Given the description of an element on the screen output the (x, y) to click on. 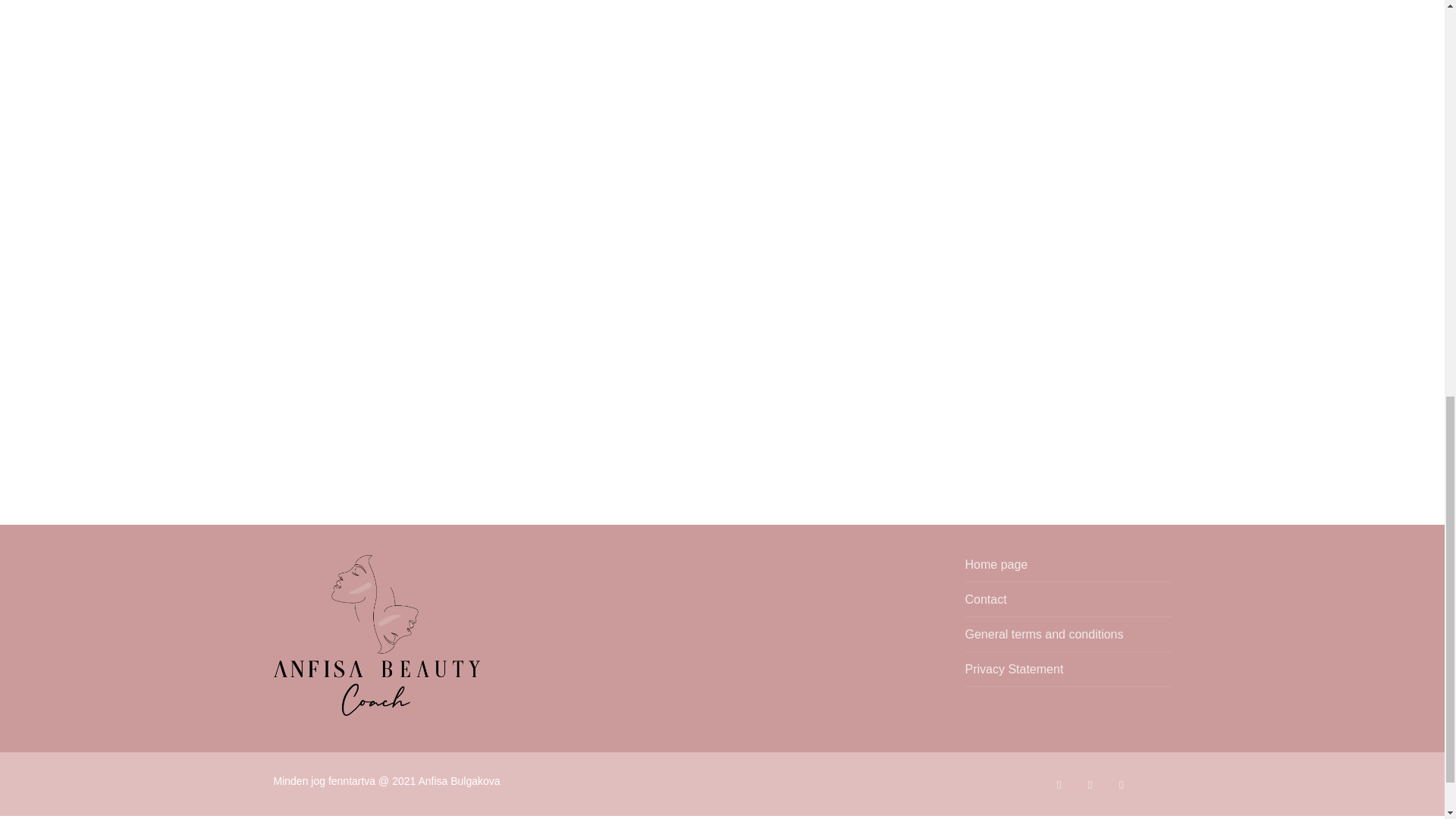
Instagram (1120, 784)
General terms and conditions (1066, 637)
Youtube (1090, 784)
Contact (1066, 603)
Facebook (1058, 784)
Home page (1066, 568)
Privacy Statement (1066, 673)
